Given the description of an element on the screen output the (x, y) to click on. 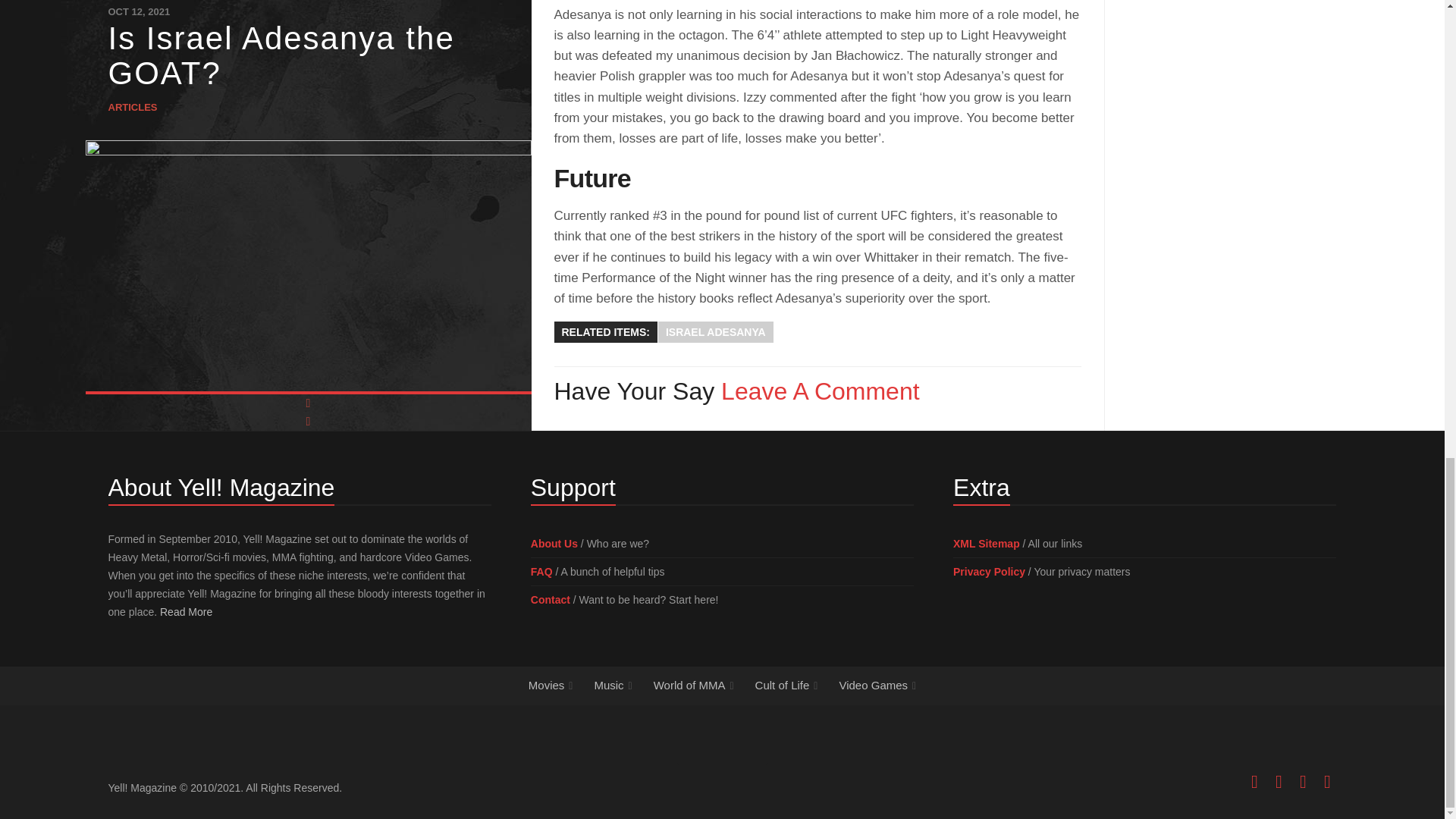
RSS Feed (1326, 782)
Twitter (1302, 782)
YouTube (1278, 782)
Facebook (1253, 782)
ISRAEL ADESANYA (715, 332)
